Given the description of an element on the screen output the (x, y) to click on. 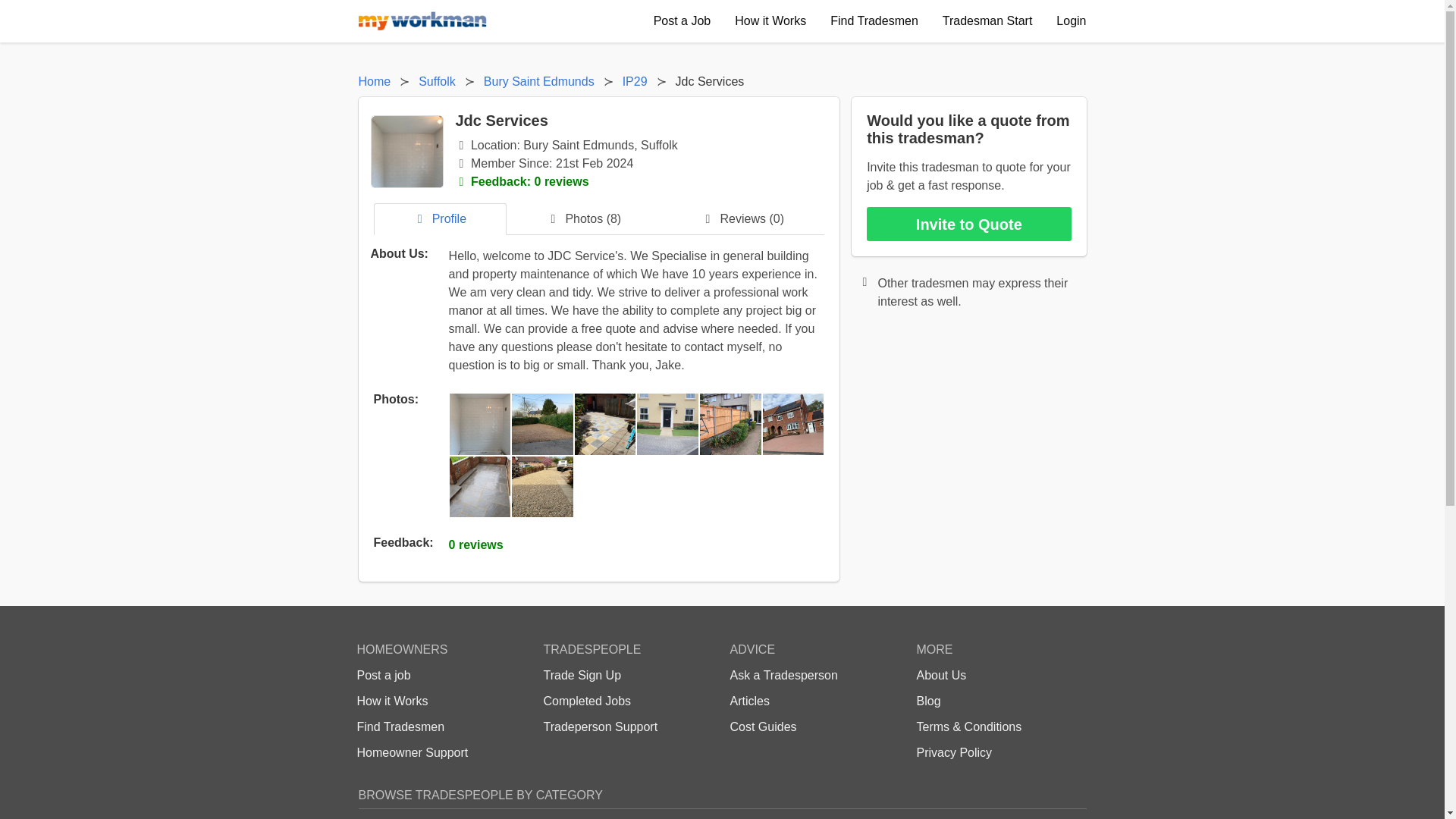
Bury Saint Edmunds (539, 81)
Articles (748, 700)
IP29 (634, 81)
Cost Guides (762, 726)
How it Works (392, 700)
Jdc Services (710, 81)
Browse our list of recommended tradesmen (874, 21)
Blog (927, 700)
Post a Job (682, 21)
Browse our list of recommended tradesmen (400, 726)
Find recommended any in IP29, Bury Saint Edmunds (634, 81)
MyWorkman Home (422, 21)
About Us (940, 675)
Trade Sign Up (582, 675)
Profile (439, 219)
